Given the description of an element on the screen output the (x, y) to click on. 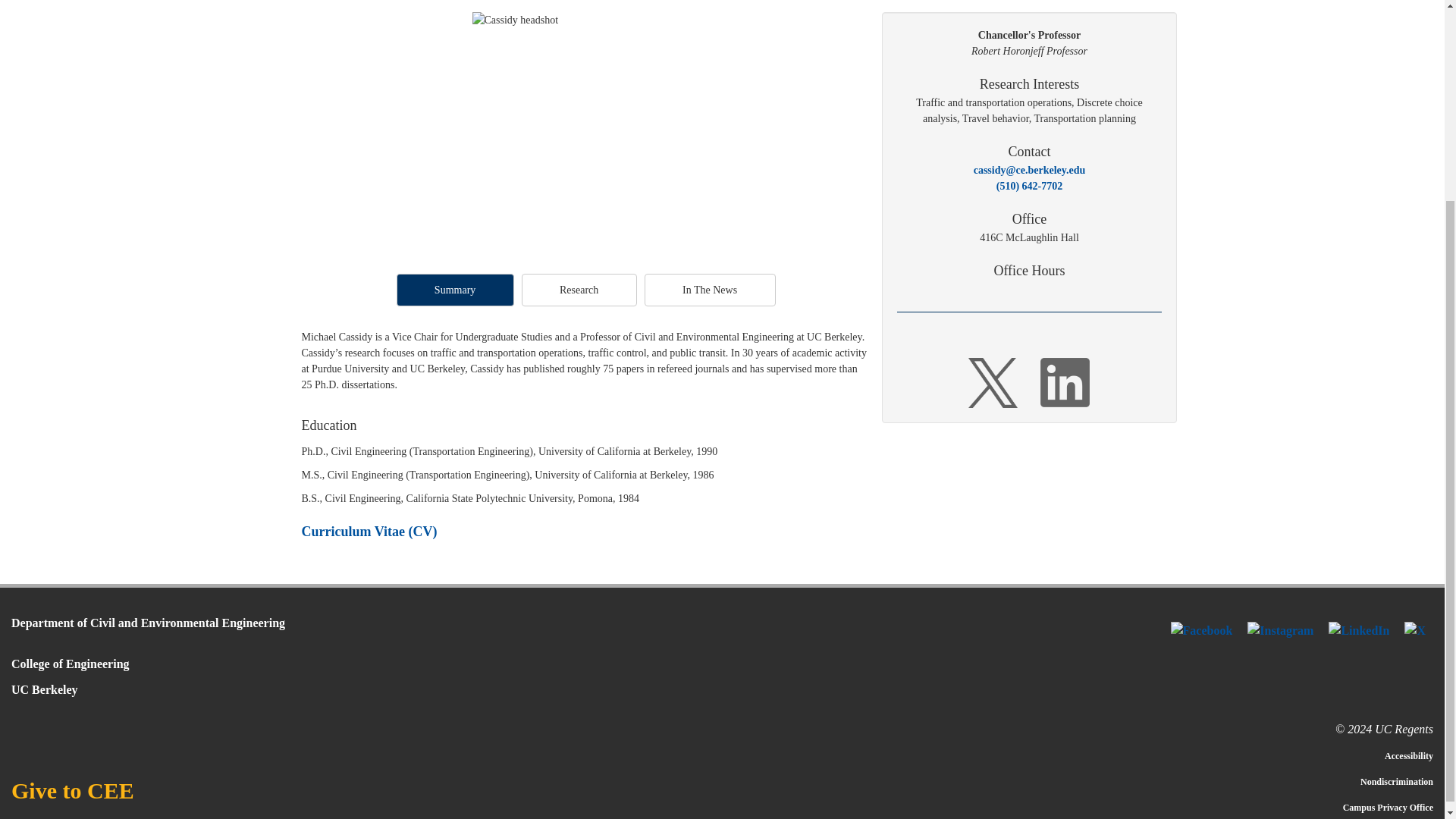
Nondiscrimination Campus Resource (1395, 781)
Give to CEE (72, 790)
Campus Privacy Policy (1387, 807)
Accessibility Campus Resource (1408, 756)
